Given the description of an element on the screen output the (x, y) to click on. 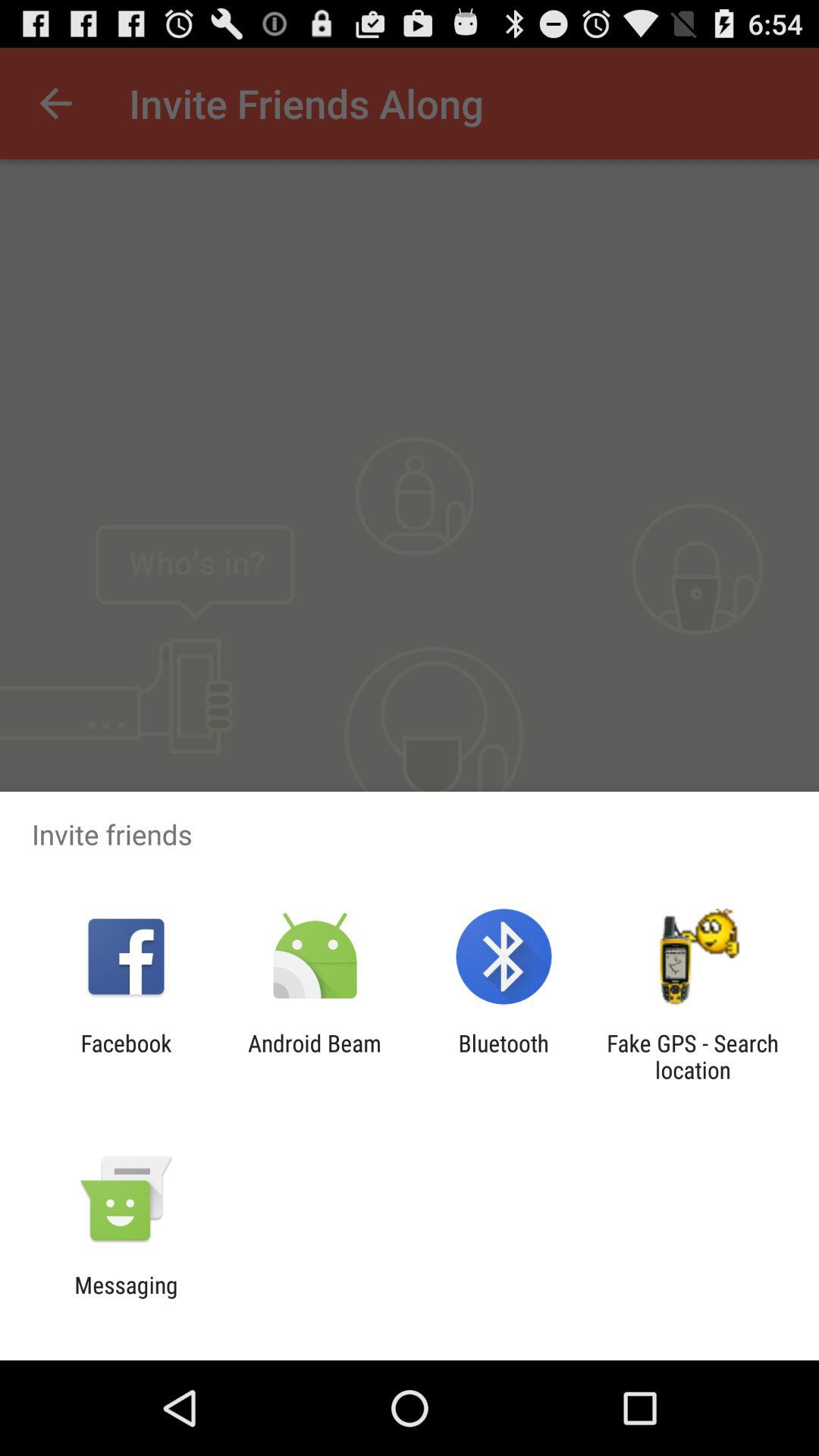
select app to the right of the bluetooth item (692, 1056)
